Given the description of an element on the screen output the (x, y) to click on. 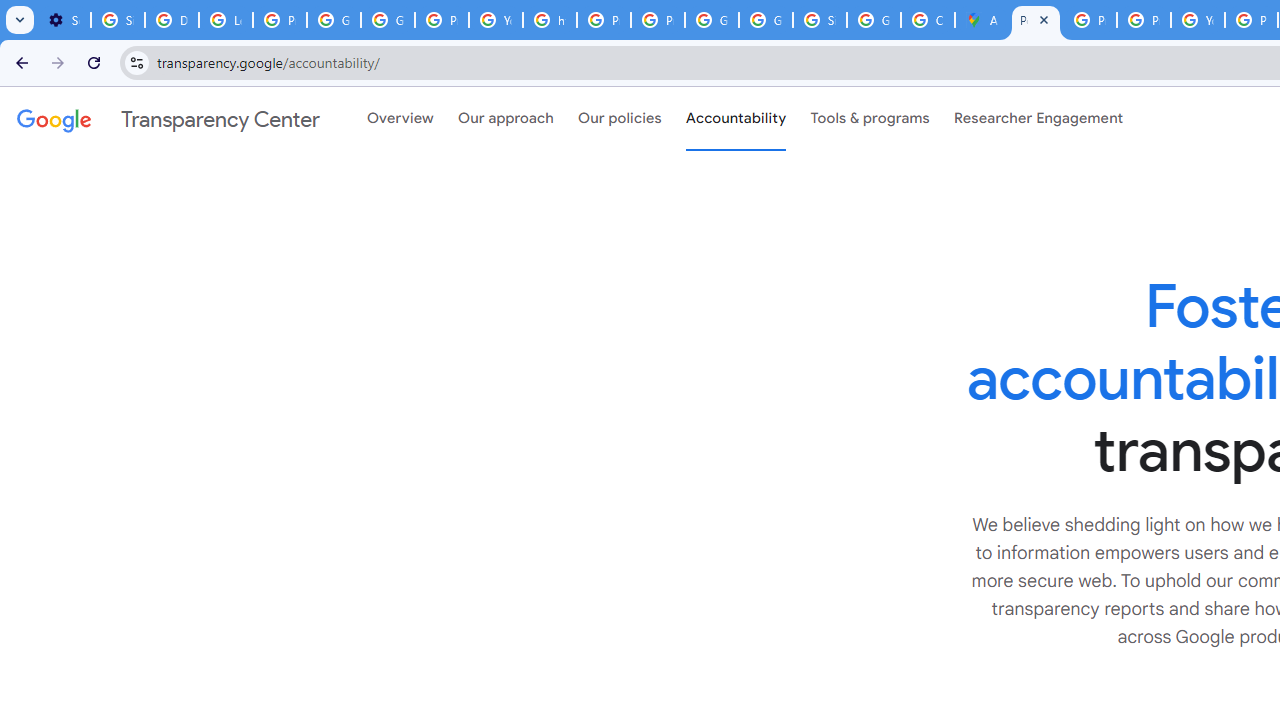
Create your Google Account (927, 20)
Sign in - Google Accounts (819, 20)
https://scholar.google.com/ (550, 20)
Delete photos & videos - Computer - Google Photos Help (171, 20)
YouTube (495, 20)
YouTube (1197, 20)
Settings - On startup (63, 20)
